Given the description of an element on the screen output the (x, y) to click on. 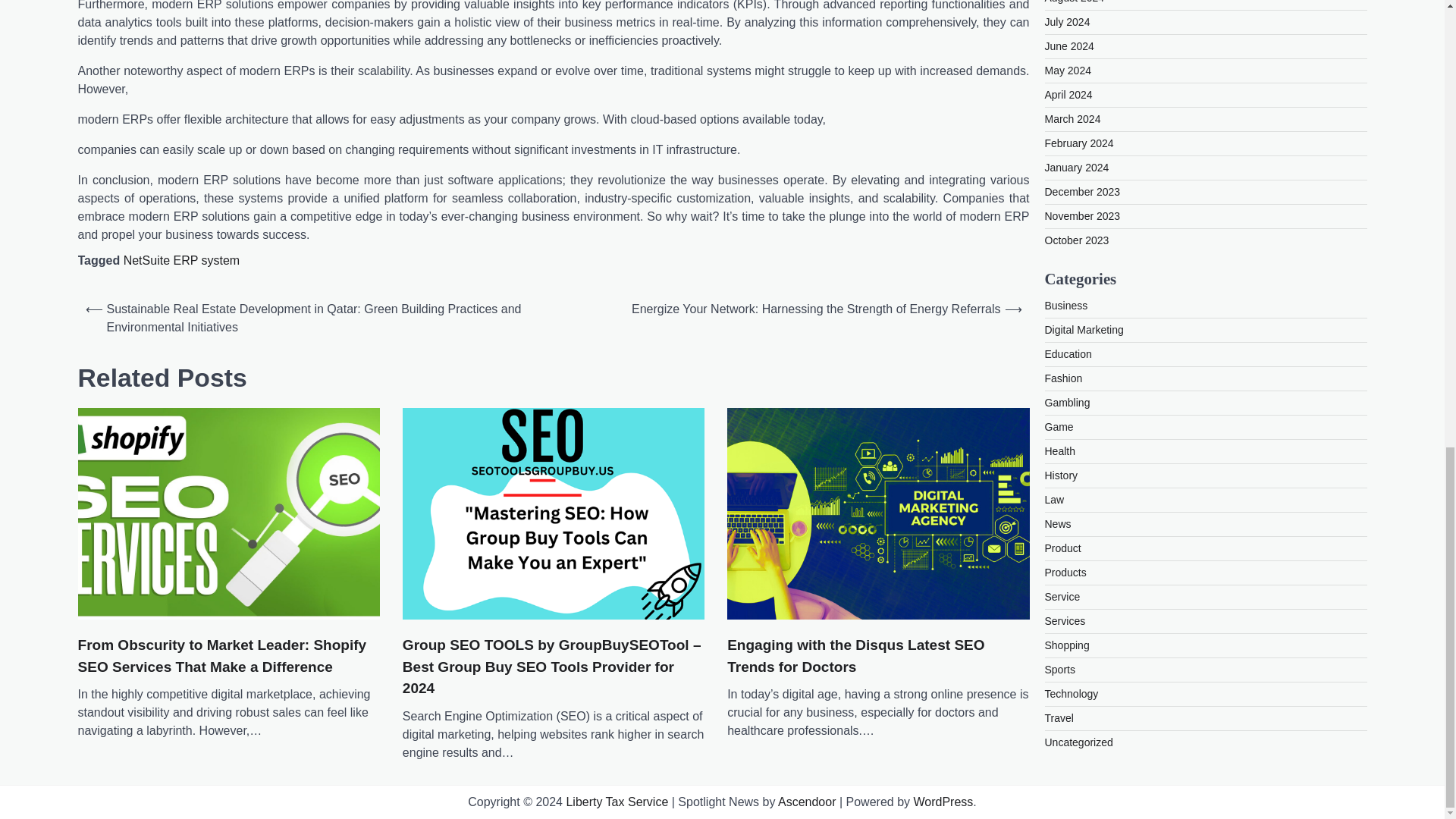
NetSuite ERP system (181, 259)
Engaging with the Disqus Latest SEO Trends for Doctors (877, 656)
